Given the description of an element on the screen output the (x, y) to click on. 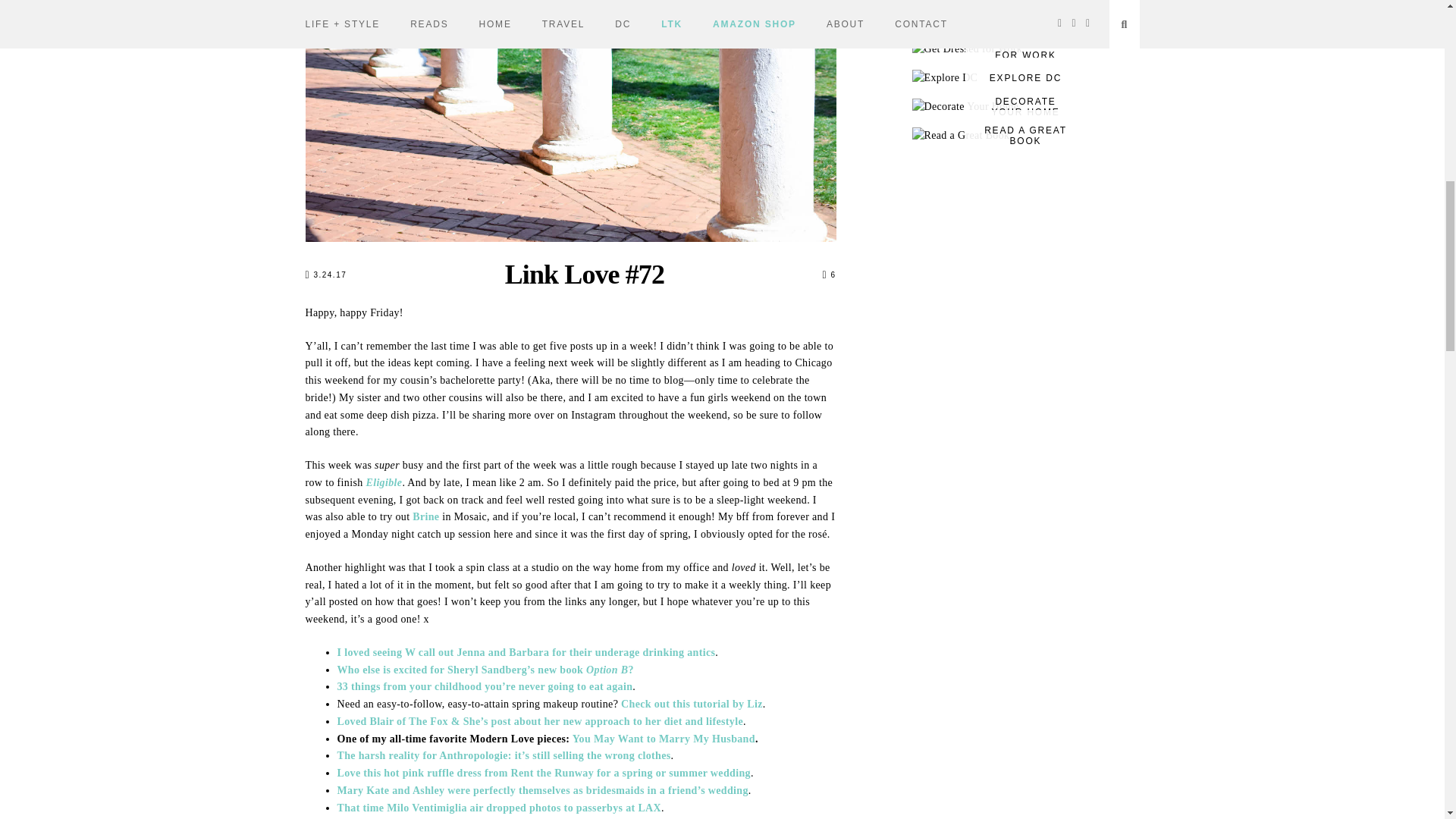
6 (828, 275)
Eligible (383, 482)
Check out this tutorial by Liz (691, 704)
You May Want to Marry My Husband (663, 738)
Brine (425, 516)
